Given the description of an element on the screen output the (x, y) to click on. 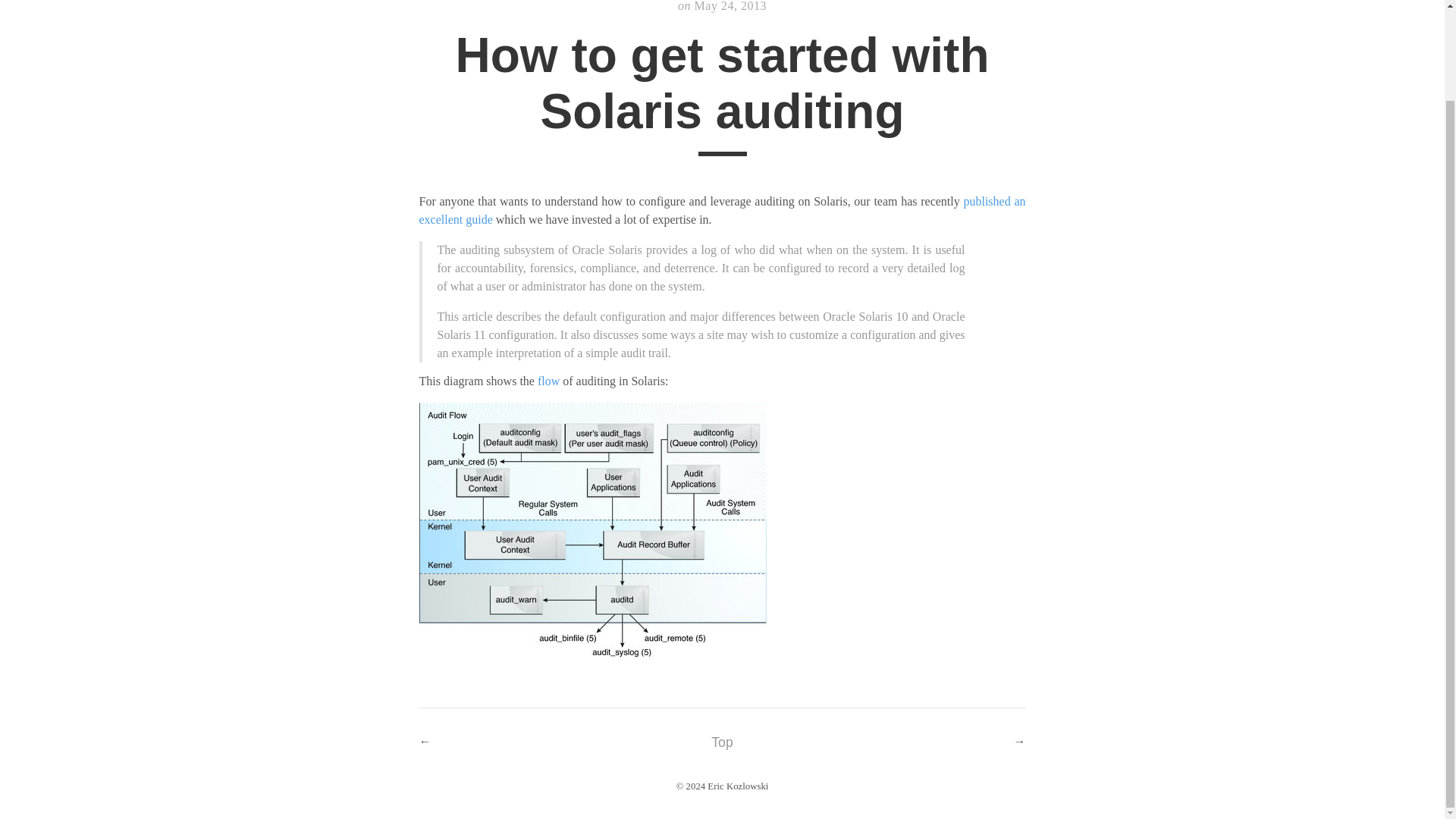
flow (548, 380)
Top (721, 742)
published an excellent guide (722, 210)
